Given the description of an element on the screen output the (x, y) to click on. 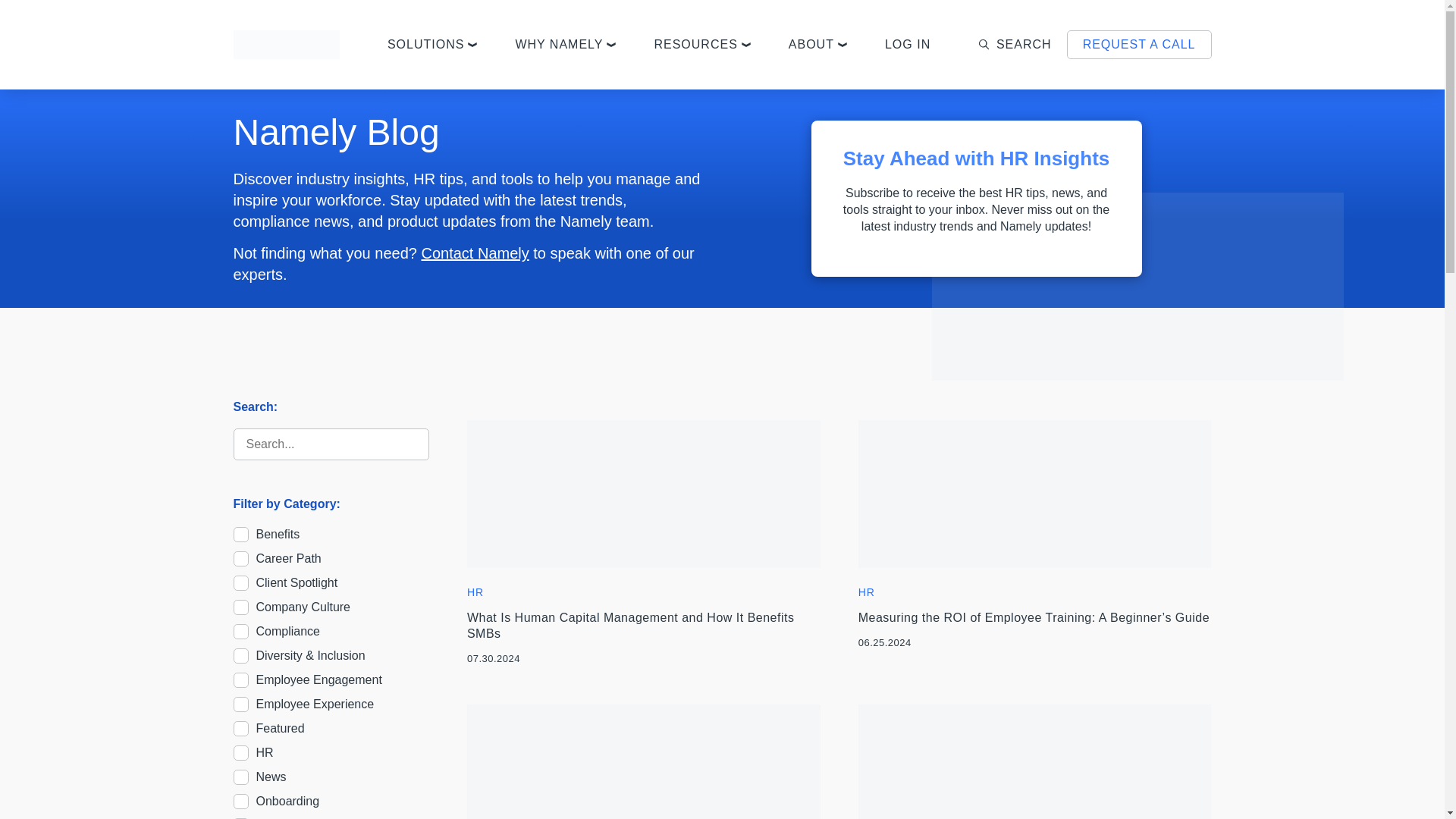
LOG IN (907, 45)
